Given the description of an element on the screen output the (x, y) to click on. 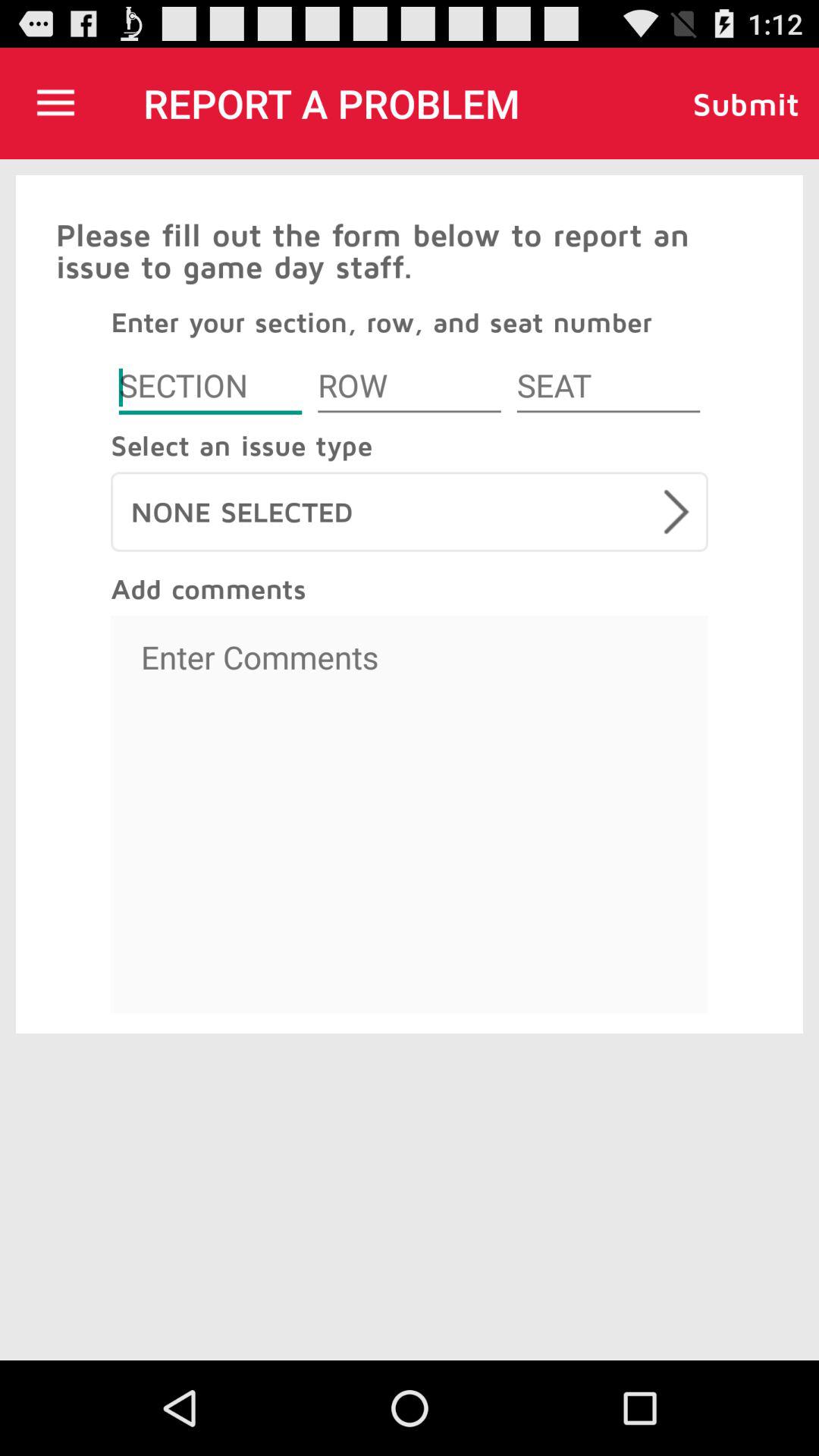
row box (409, 388)
